Given the description of an element on the screen output the (x, y) to click on. 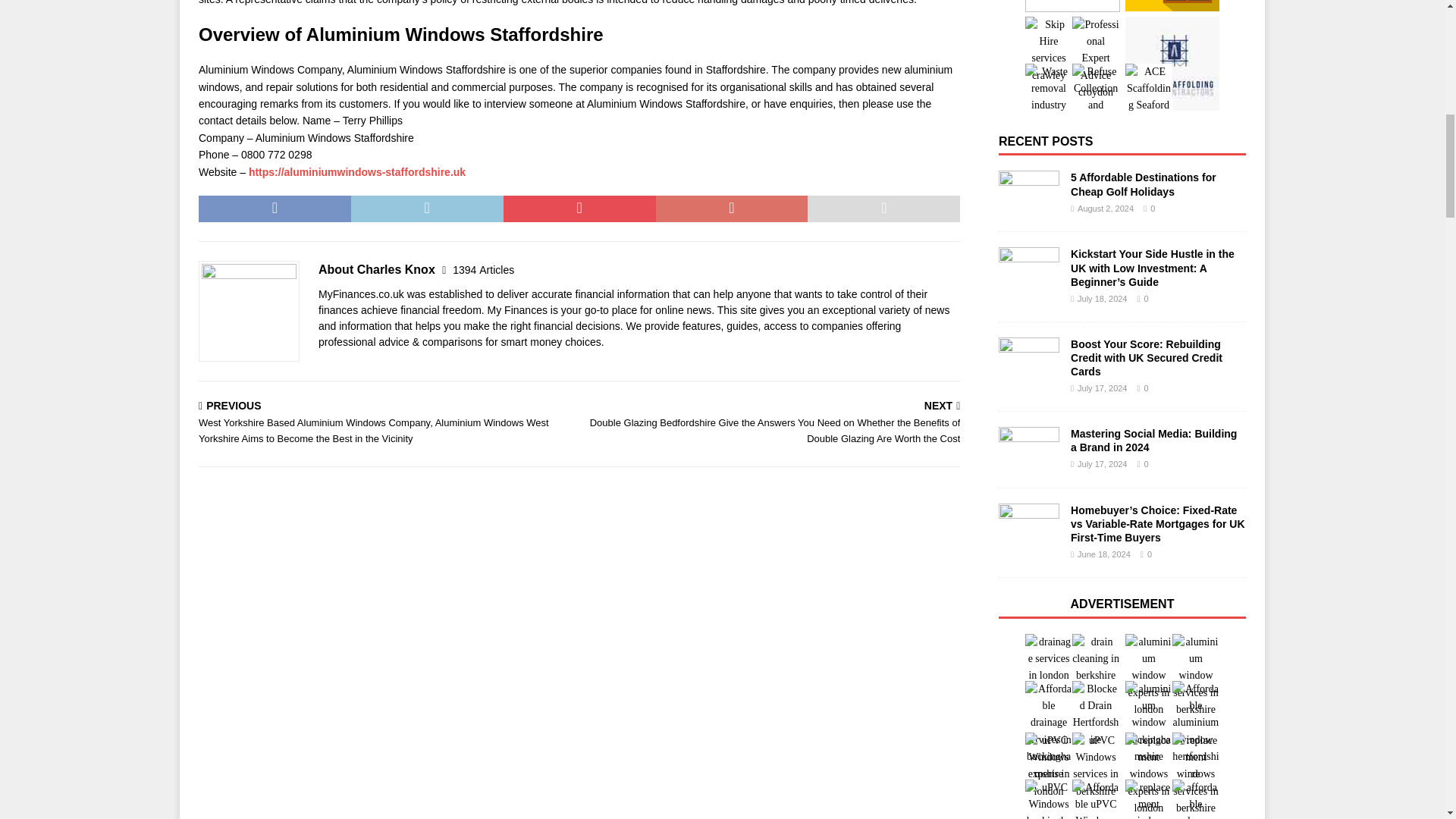
More articles written by Charles Knox' (482, 269)
5 Affordable Destinations for Cheap Golf Holidays (1028, 193)
